Given the description of an element on the screen output the (x, y) to click on. 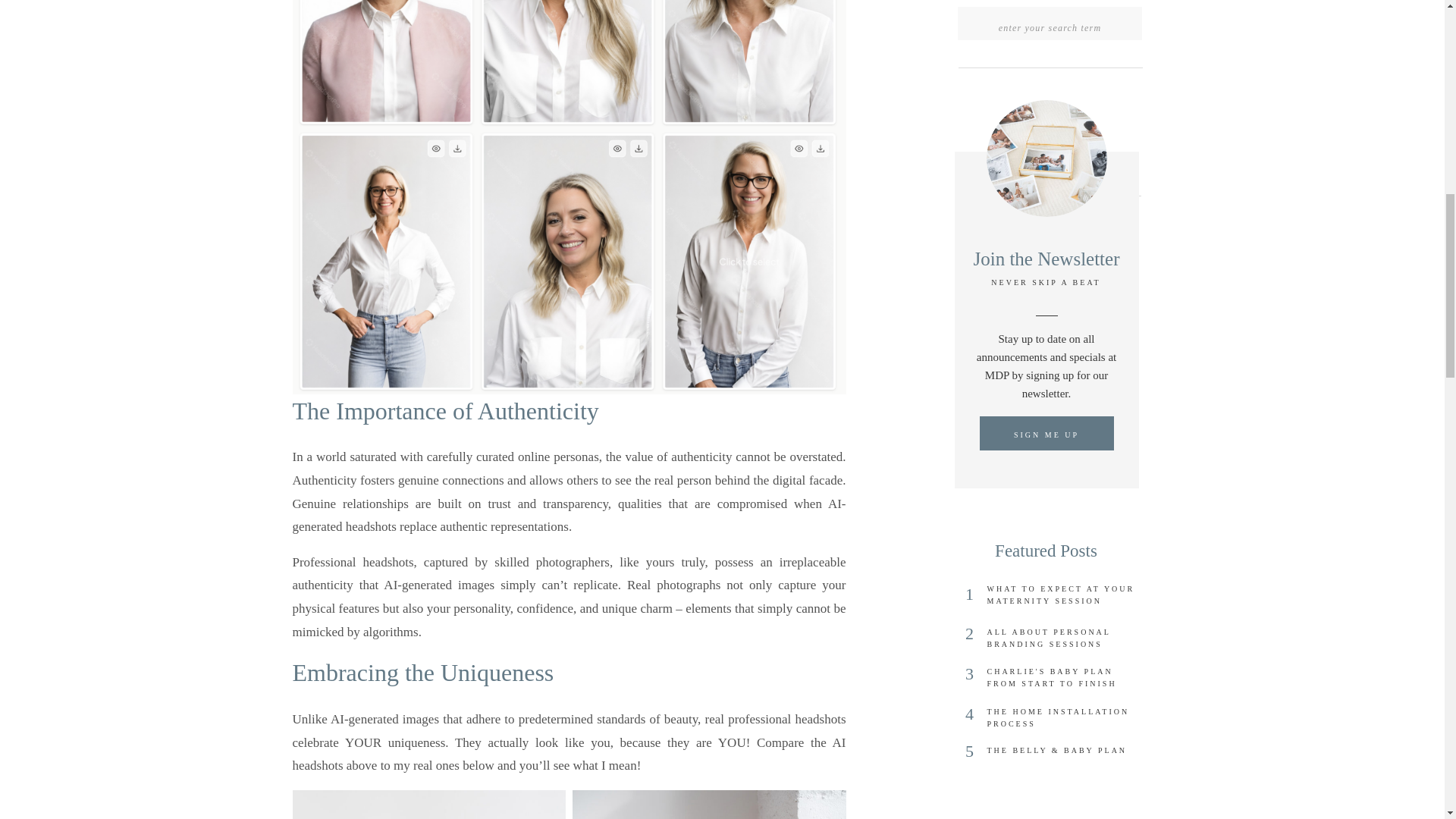
THE HOME INSTALLATION PROCESS (1064, 720)
ALL ABOUT PERSONAL BRANDING SESSIONS (1064, 641)
WHAT TO EXPECT AT YOUR MATERNITY SESSION (1064, 598)
CHARLIE'S BABY PLAN FROM START TO FINISH (1064, 680)
SIGN ME UP (1046, 437)
